Given the description of an element on the screen output the (x, y) to click on. 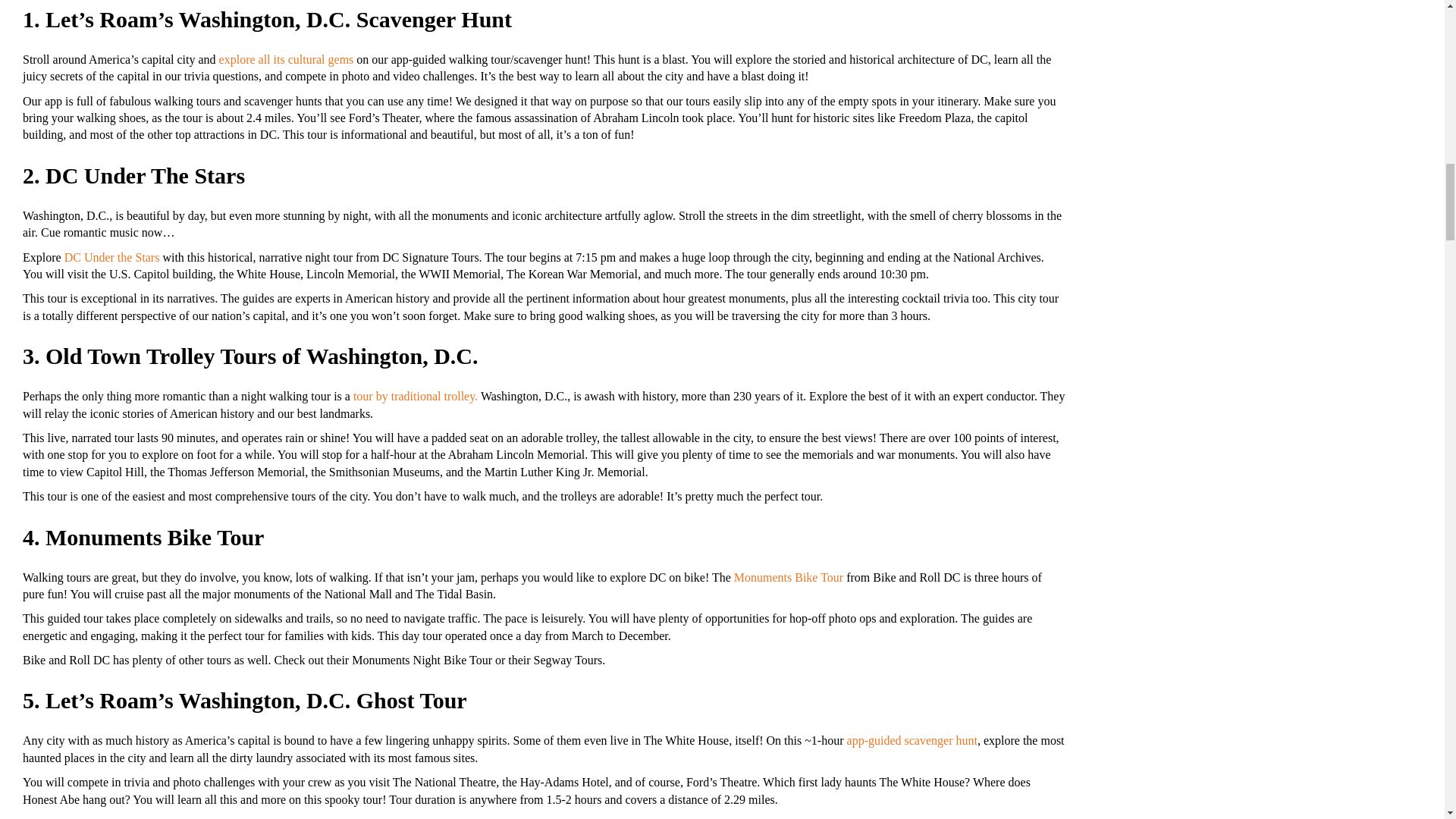
Monuments Bike Tour (788, 576)
DC Under the Stars (112, 256)
app-guided scavenger hunt (911, 739)
cultural gems (319, 59)
adventure app (859, 818)
tour by traditional trolley. (415, 395)
explore all its (252, 59)
